Given the description of an element on the screen output the (x, y) to click on. 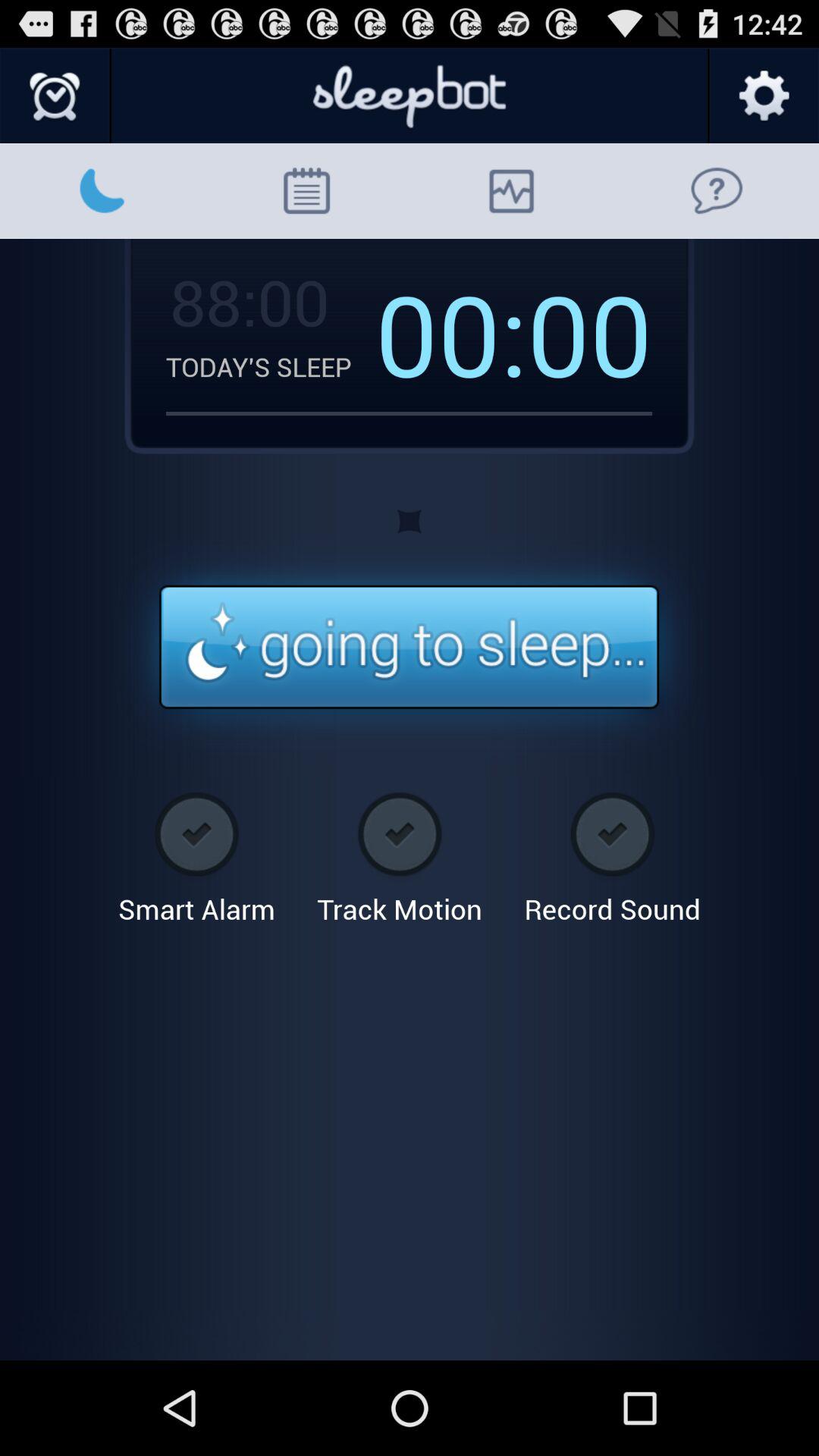
going to sleep (408, 647)
